Given the description of an element on the screen output the (x, y) to click on. 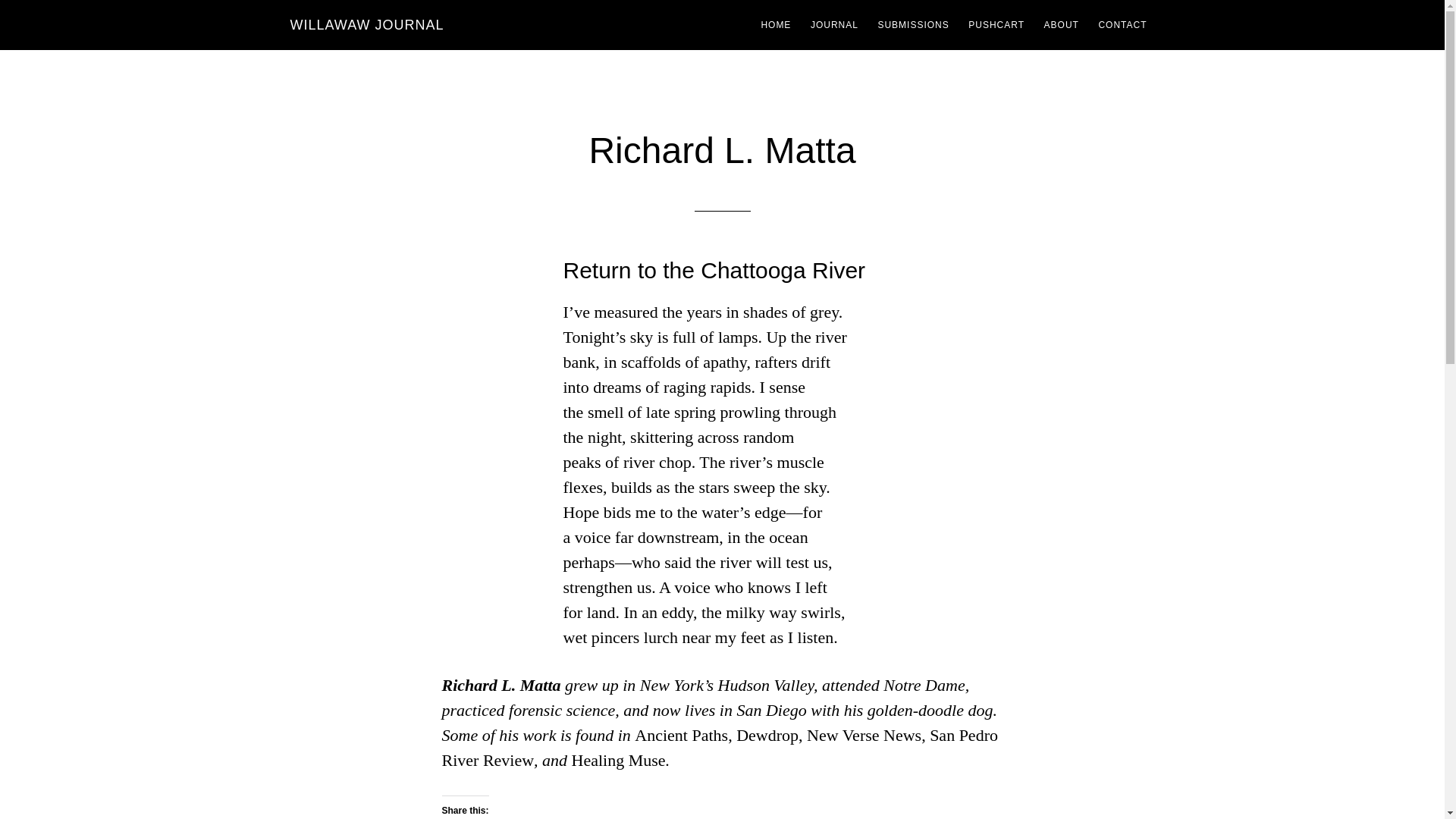
SUBMISSIONS (912, 24)
WILLAWAW JOURNAL (366, 24)
JOURNAL (834, 24)
ABOUT (1061, 24)
HOME (774, 24)
CONTACT (1122, 24)
PUSHCART (996, 24)
